Given the description of an element on the screen output the (x, y) to click on. 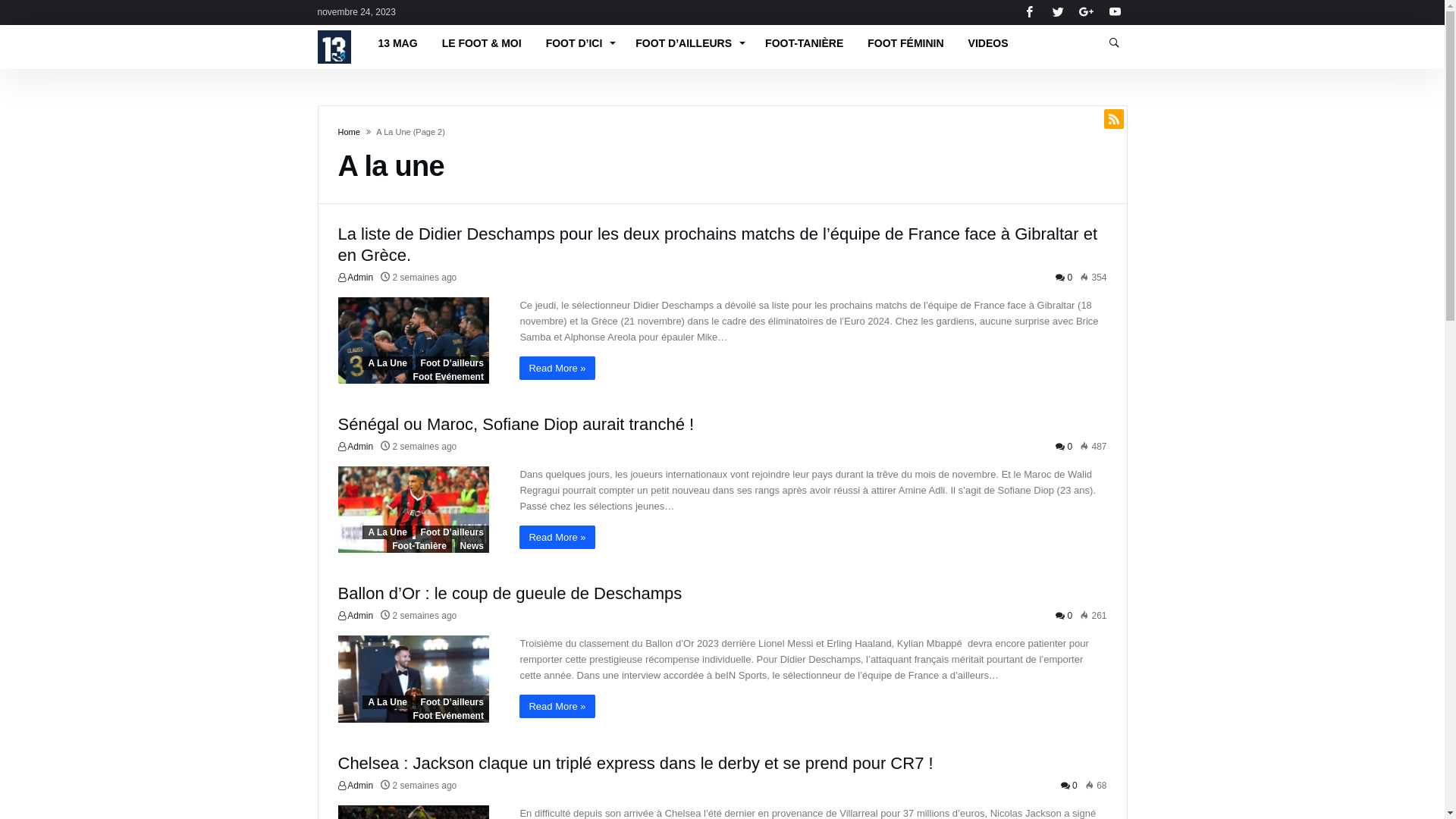
A La Une Element type: text (387, 532)
13 MAG Element type: text (397, 43)
0 Element type: text (1063, 615)
0 Element type: text (1063, 446)
Home Element type: text (349, 131)
VIDEOS Element type: text (988, 43)
Facebook Element type: hover (1029, 12)
Admin Element type: text (355, 446)
Admin Element type: text (355, 785)
Admin Element type: text (355, 277)
Admin Element type: text (355, 615)
Youtube Element type: hover (1114, 12)
13Football Element type: hover (333, 29)
News Element type: text (472, 545)
0 Element type: text (1063, 277)
0 Element type: text (1068, 785)
LE FOOT & MOI Element type: text (481, 43)
Google+ Element type: hover (1086, 12)
A La Une Element type: text (387, 363)
Twitter Element type: hover (1057, 12)
A La Une Element type: text (387, 702)
